Given the description of an element on the screen output the (x, y) to click on. 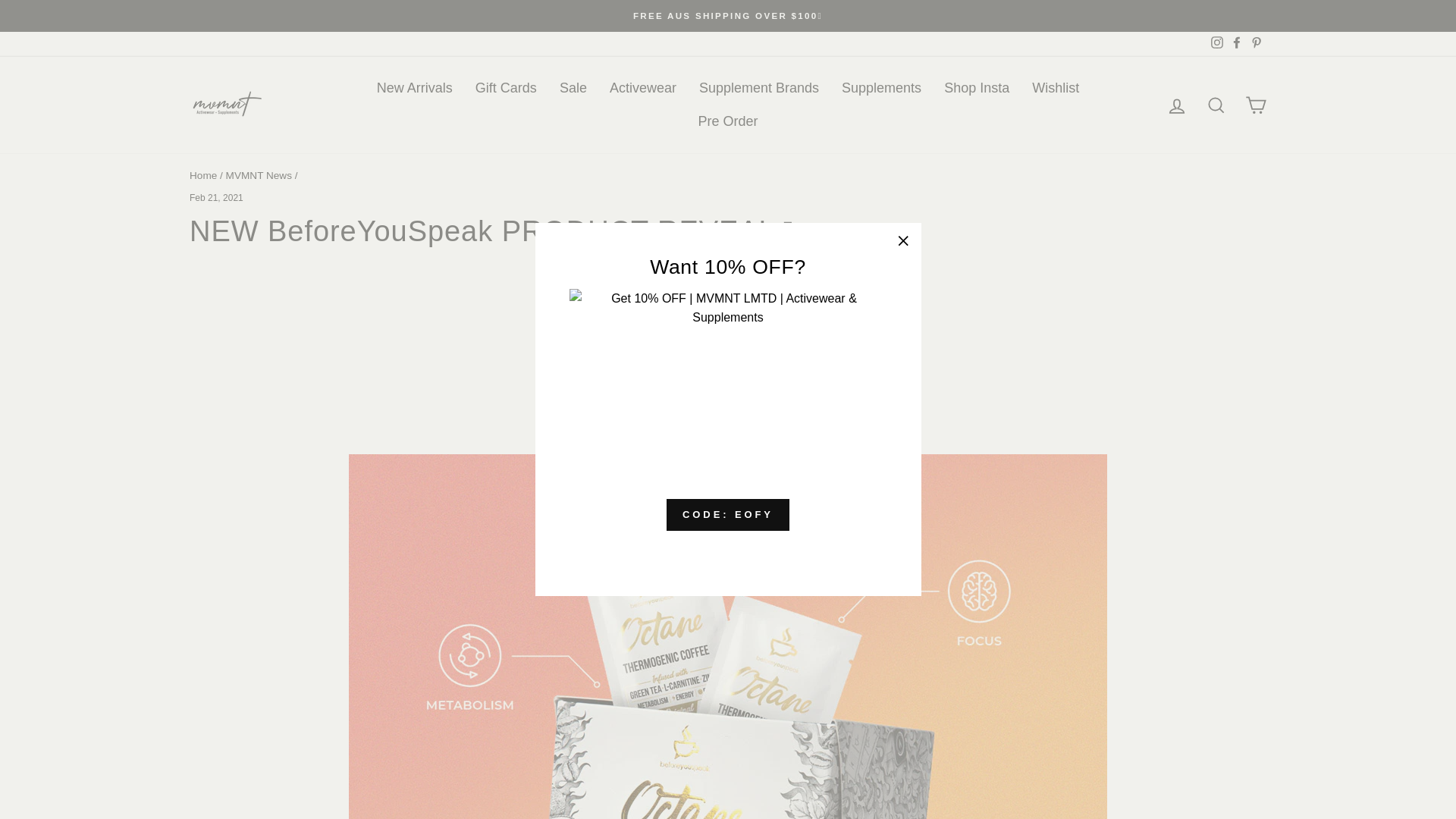
Back to the frontpage (202, 174)
